Given the description of an element on the screen output the (x, y) to click on. 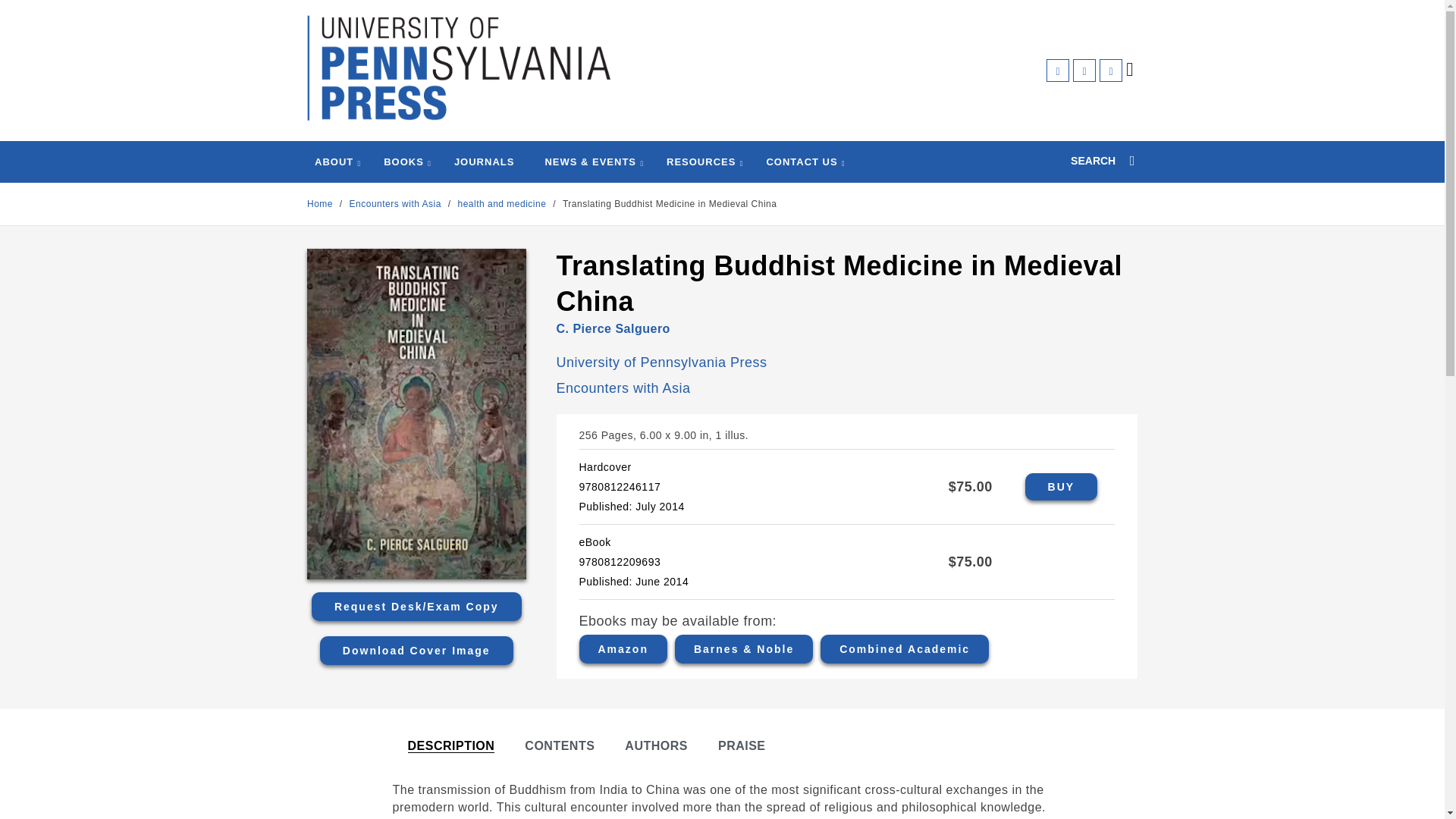
Combined Academic (904, 648)
View results for Encounters with Asia (396, 204)
Amazon (622, 648)
JOURNALS (484, 161)
Follow us on Facebook (1057, 69)
ABOUT (333, 161)
RESOURCES (700, 161)
Hardcover (1061, 486)
View results for health and medicine (501, 204)
Back to homepage (320, 204)
BOOKS (403, 161)
Follow us on Instagram (1110, 69)
